Given the description of an element on the screen output the (x, y) to click on. 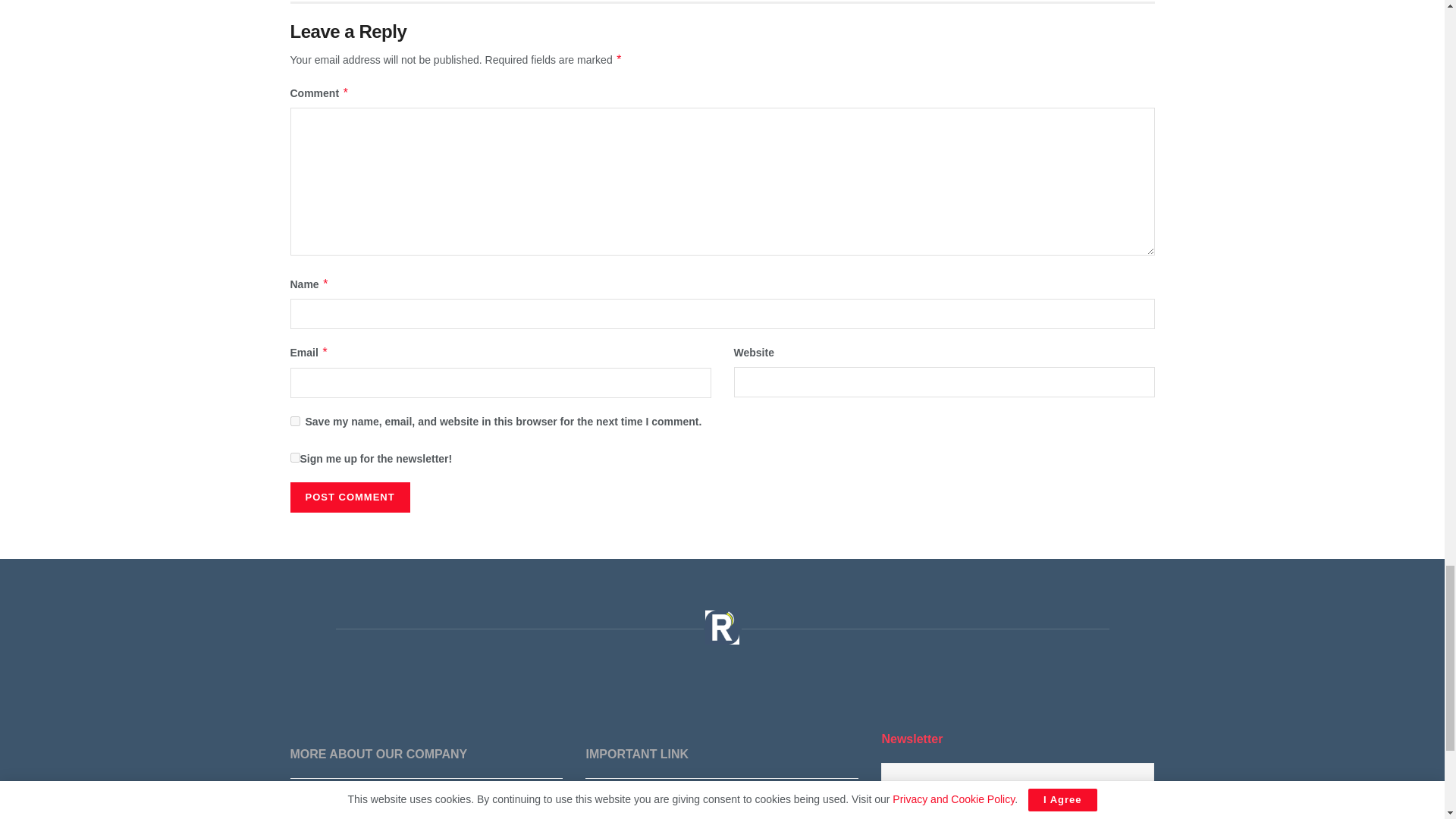
Post Comment (349, 497)
yes (294, 420)
1 (294, 457)
